Given the description of an element on the screen output the (x, y) to click on. 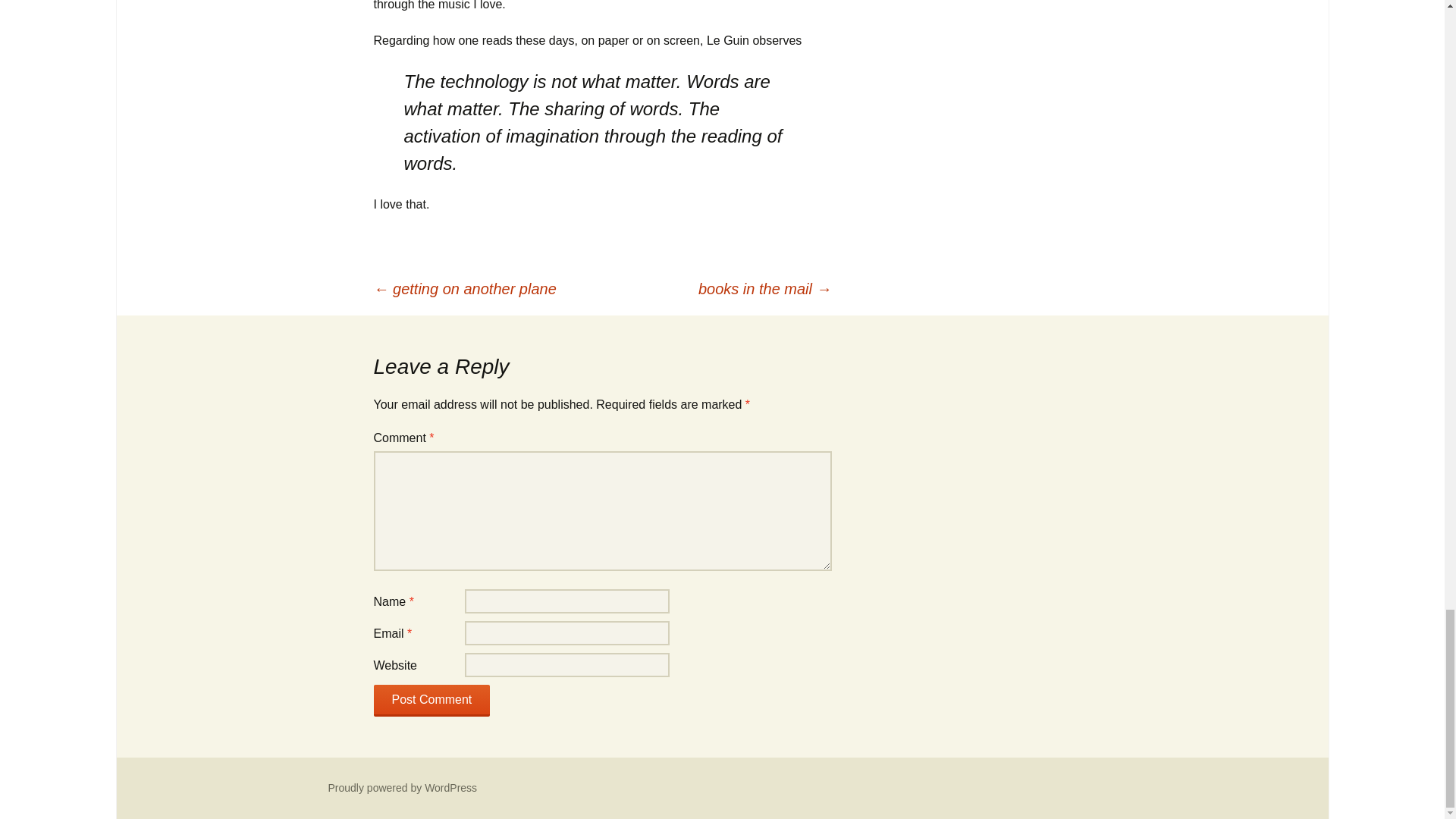
Proudly powered by WordPress (402, 787)
Post Comment (430, 700)
Post Comment (430, 700)
